Given the description of an element on the screen output the (x, y) to click on. 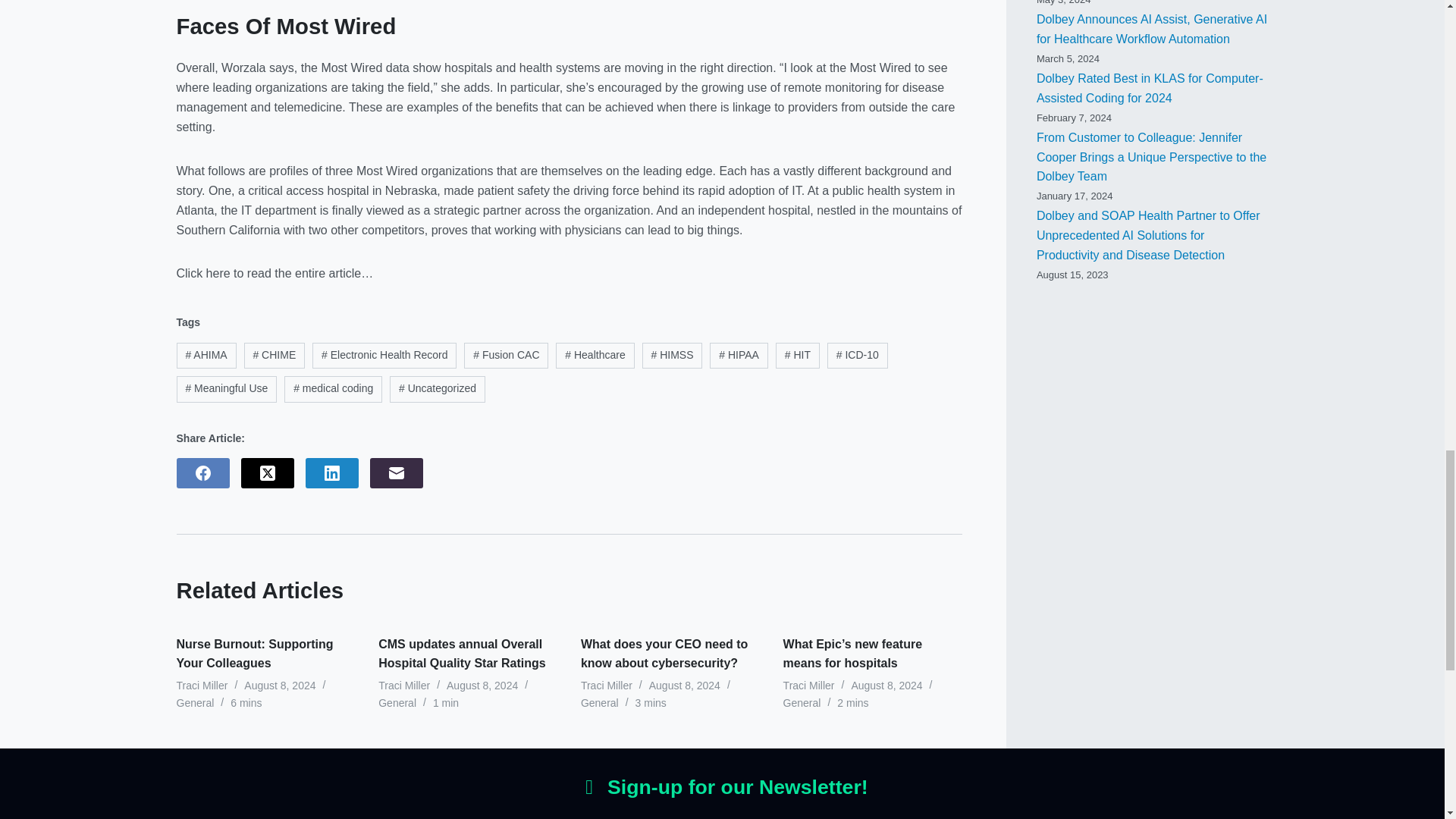
Posts by Traci Miller (201, 685)
Posts by Traci Miller (403, 685)
Posts by Traci Miller (605, 685)
Posts by Traci Miller (808, 685)
